Given the description of an element on the screen output the (x, y) to click on. 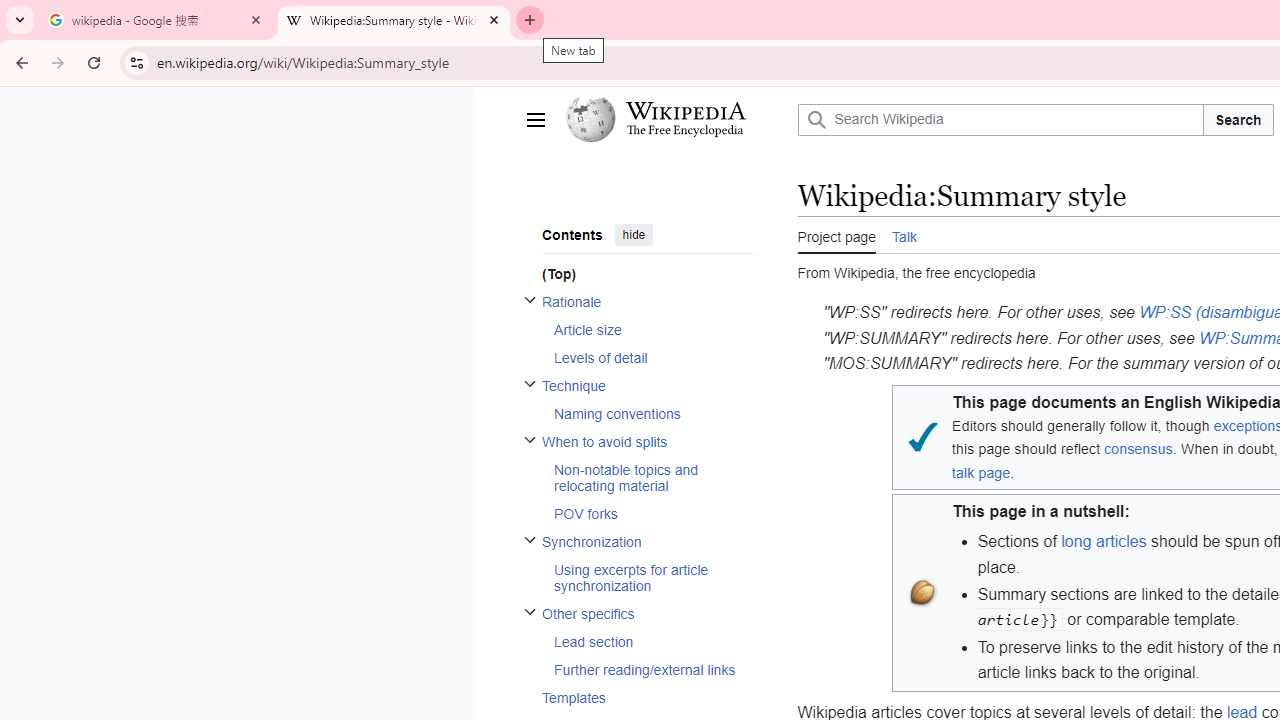
Toggle Rationale subsection (529, 299)
Wikipedia (685, 111)
Talk (904, 235)
Using excerpts for article synchronization (654, 577)
AutomationID: toc-Article_size (649, 329)
Toggle Other specifics subsection (529, 610)
AutomationID: ca-talk (904, 234)
Further reading/external links (654, 669)
Wikipedia:Summary style - Wikipedia (394, 20)
The Free Encyclopedia (685, 131)
AutomationID: toc-Rationale (642, 329)
AutomationID: toc-mw-content-text (642, 273)
Toggle Technique subsection (529, 383)
AutomationID: toc-Synchronization (642, 563)
